Given the description of an element on the screen output the (x, y) to click on. 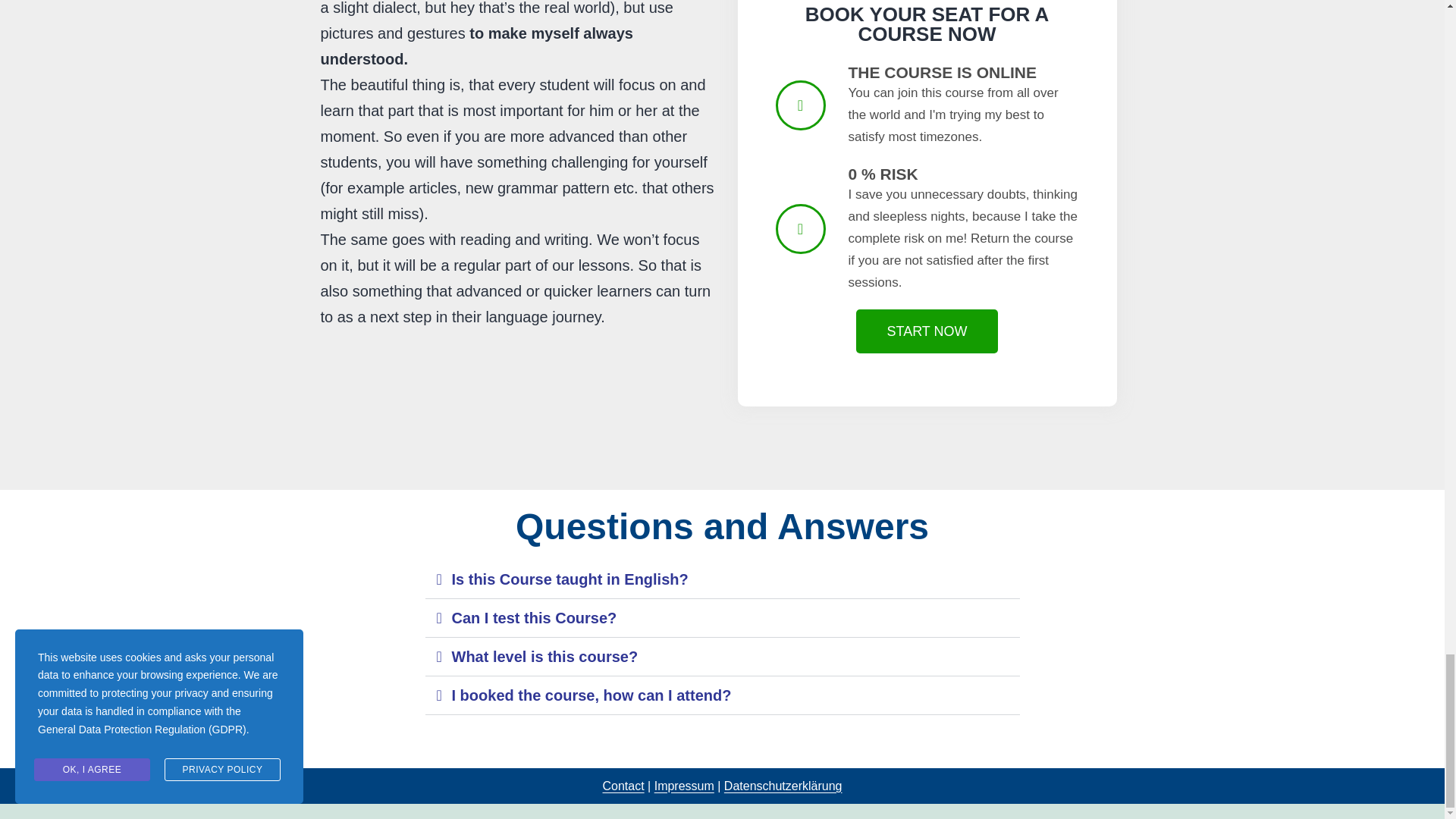
Impressum (683, 785)
Contact (622, 785)
Is this Course taught in English? (569, 579)
START NOW (926, 330)
Can I test this Course? (534, 617)
What level is this course? (545, 656)
I booked the course, how can I attend? (591, 695)
